Given the description of an element on the screen output the (x, y) to click on. 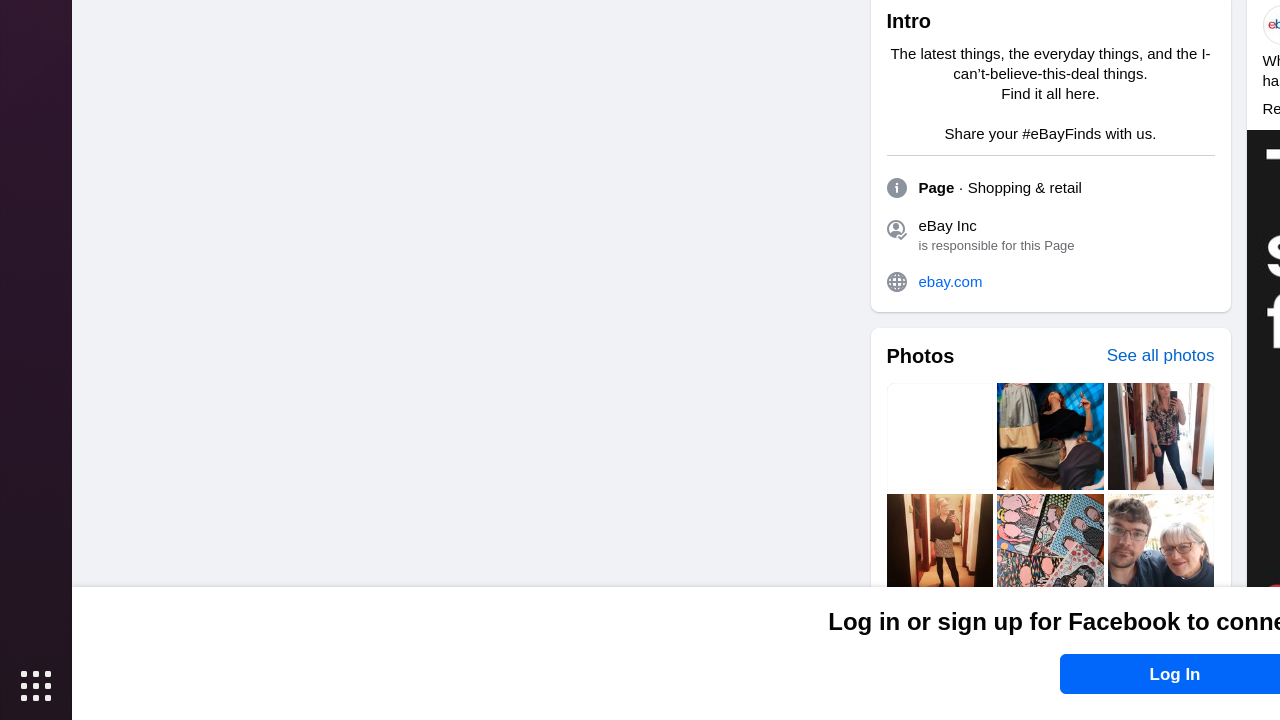
Photos Element type: link (920, 356)
See all photos Element type: link (1160, 356)
Show Applications Element type: toggle-button (36, 686)
Page · Shopping & retail Element type: push-button (1000, 188)
ebay.com Element type: link (1066, 282)
